Given the description of an element on the screen output the (x, y) to click on. 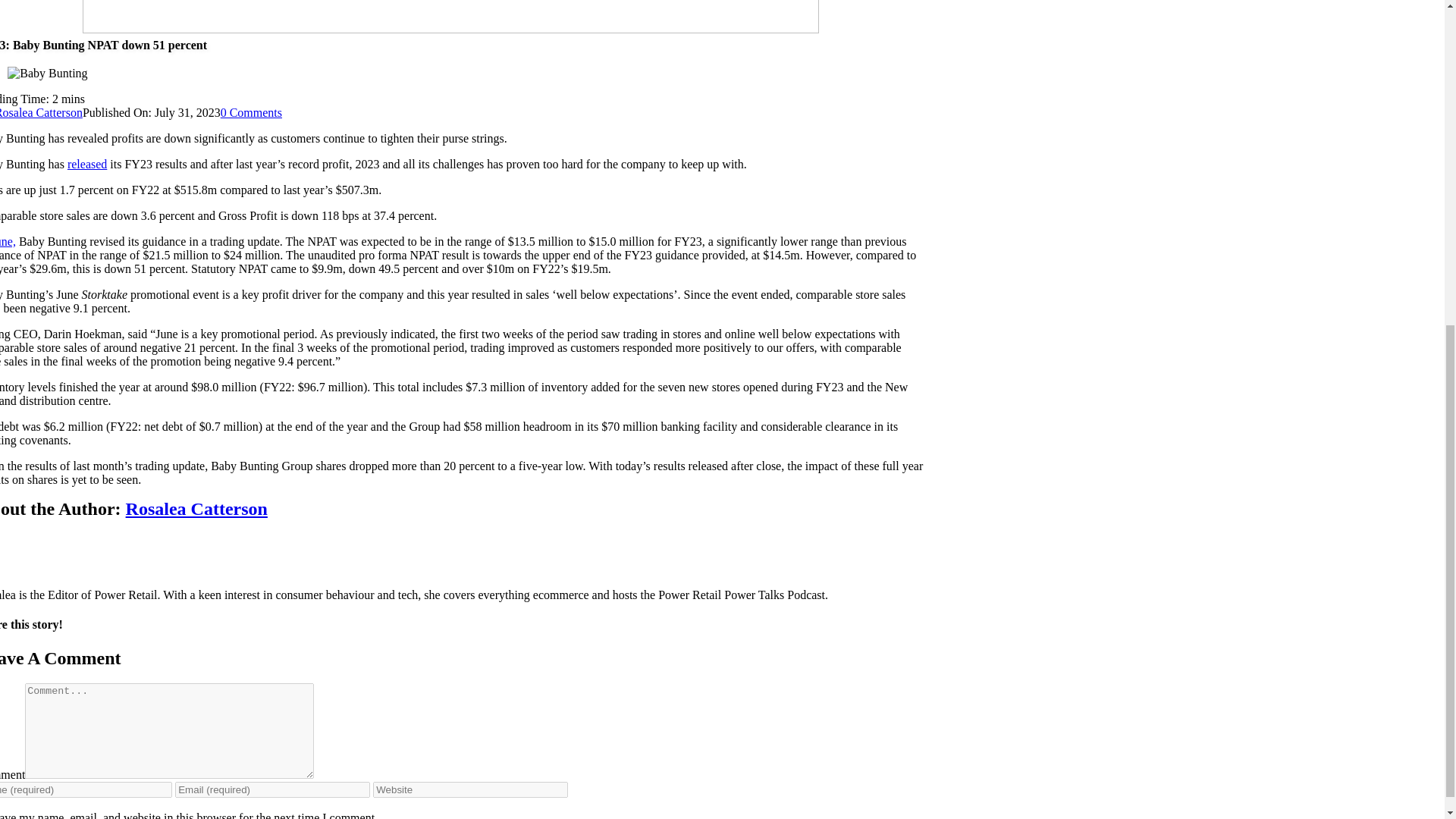
Posts by Rosalea Catterson (41, 112)
